Given the description of an element on the screen output the (x, y) to click on. 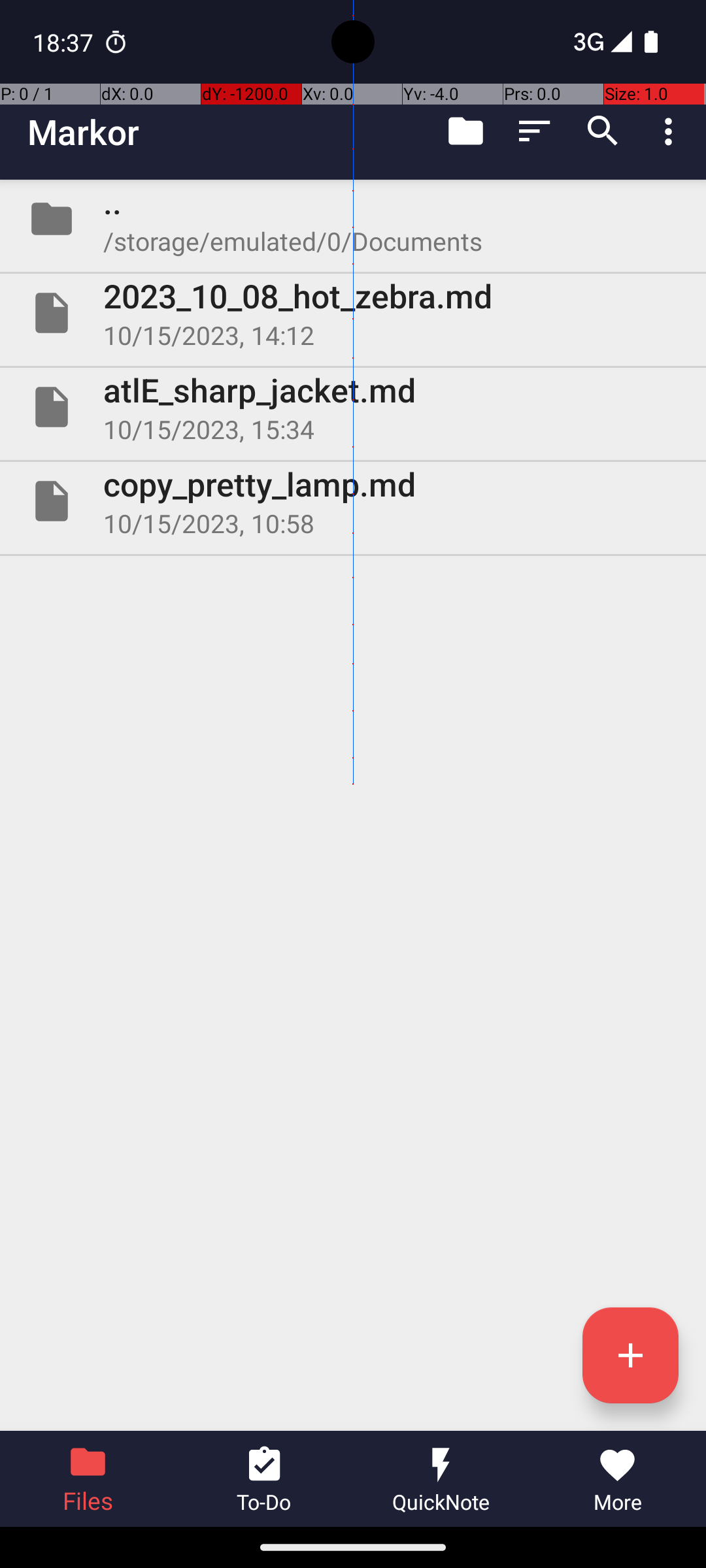
File 2023_10_08_hot_zebra.md  Element type: android.widget.LinearLayout (353, 312)
File atlE_sharp_jacket.md  Element type: android.widget.LinearLayout (353, 406)
File copy_pretty_lamp.md  Element type: android.widget.LinearLayout (353, 500)
18:37 Element type: android.widget.TextView (64, 41)
